Given the description of an element on the screen output the (x, y) to click on. 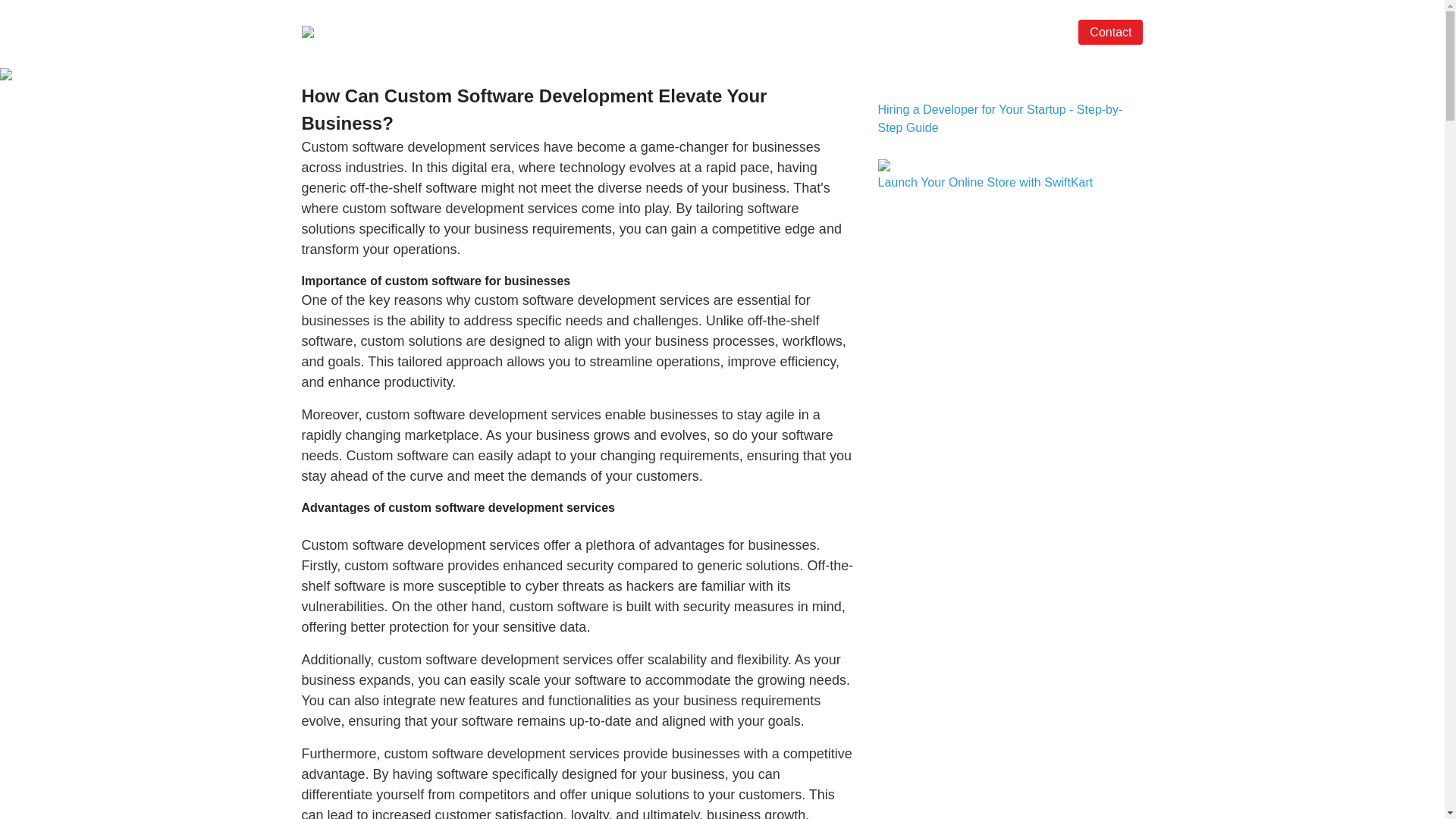
SwiftKart (898, 32)
Hiring a Developer for Your Startup - Step-by-Step Guide (999, 118)
Our Services (816, 32)
Home (742, 32)
Contact (1110, 32)
Launch Your Online Store with SwiftKart (985, 182)
Blog (1037, 32)
Case Study (977, 32)
